Given the description of an element on the screen output the (x, y) to click on. 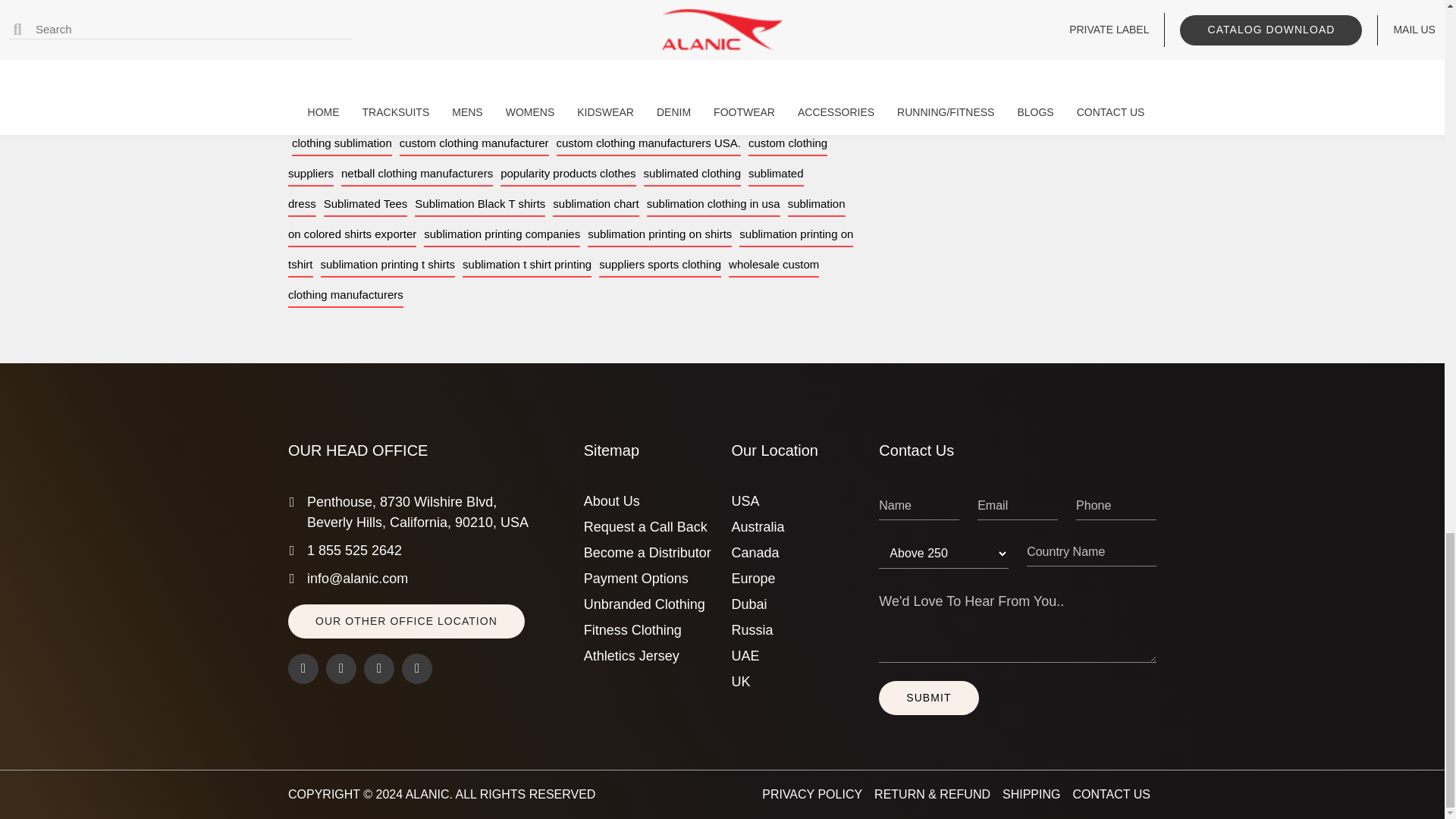
sublimation on colored shirts exporter (566, 219)
popularity products clothes (567, 173)
Alanic Wholesale Clothing (427, 793)
sublimation clothing in usa (713, 204)
sublimated dress (545, 189)
netball clothing manufacturers (416, 173)
sublimated clothing (692, 173)
Sublimated Tees (365, 204)
sublimation chart (596, 204)
Sublimation Black T shirts (479, 204)
clothing sublimation (341, 143)
custom clothing manufacturer (473, 143)
custom clothing suppliers (557, 158)
custom clothing manufacturers USA. (648, 143)
Submit (928, 697)
